Given the description of an element on the screen output the (x, y) to click on. 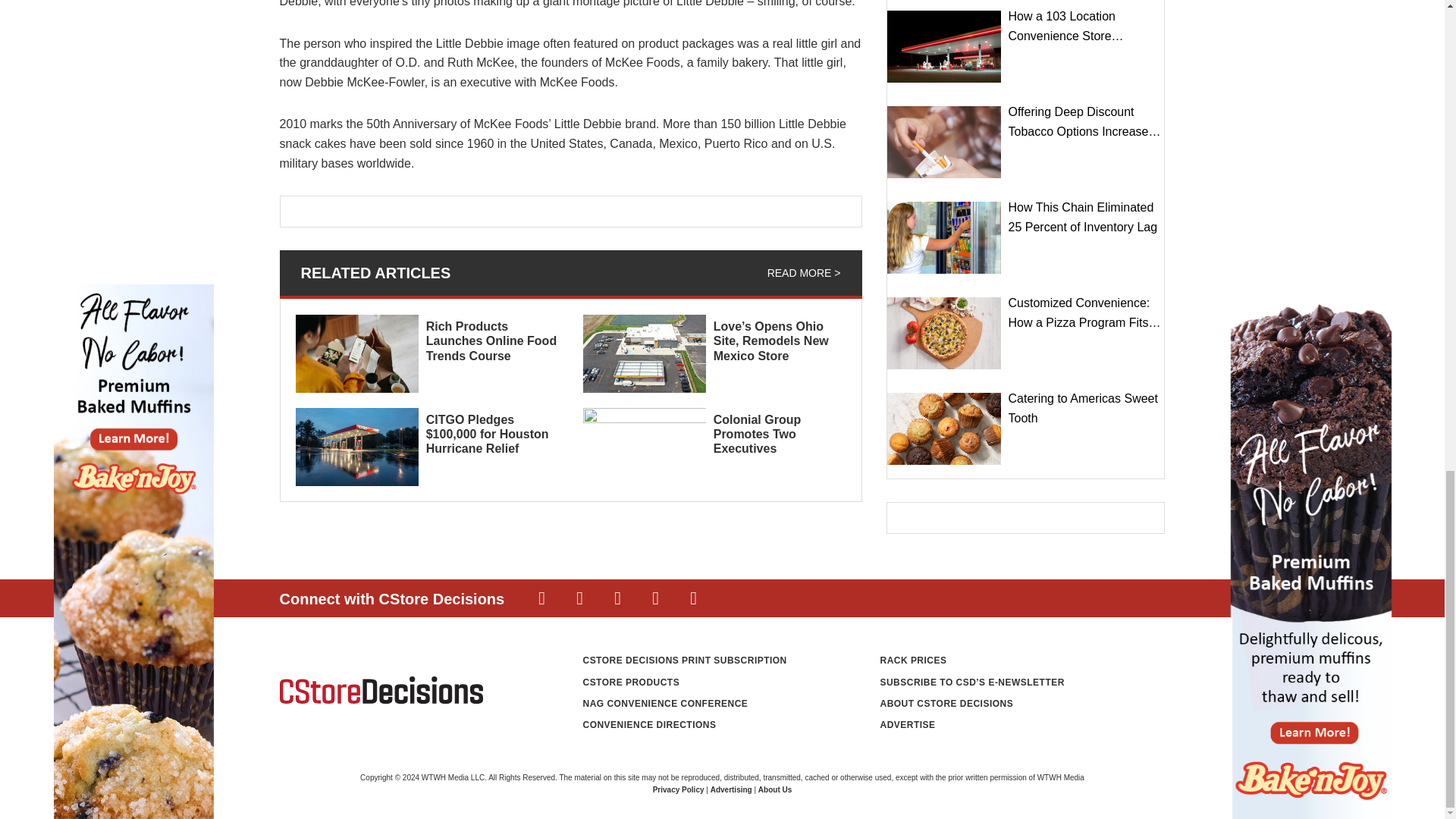
Catering to Americas Sweet Tooth (943, 429)
Offering Deep Discount Tobacco Options Increases Revenue (943, 142)
How a 103 Location Convenience Store Enhanced Operations (943, 46)
How This Chain Eliminated 25 Percent of Inventory Lag (943, 237)
